Given the description of an element on the screen output the (x, y) to click on. 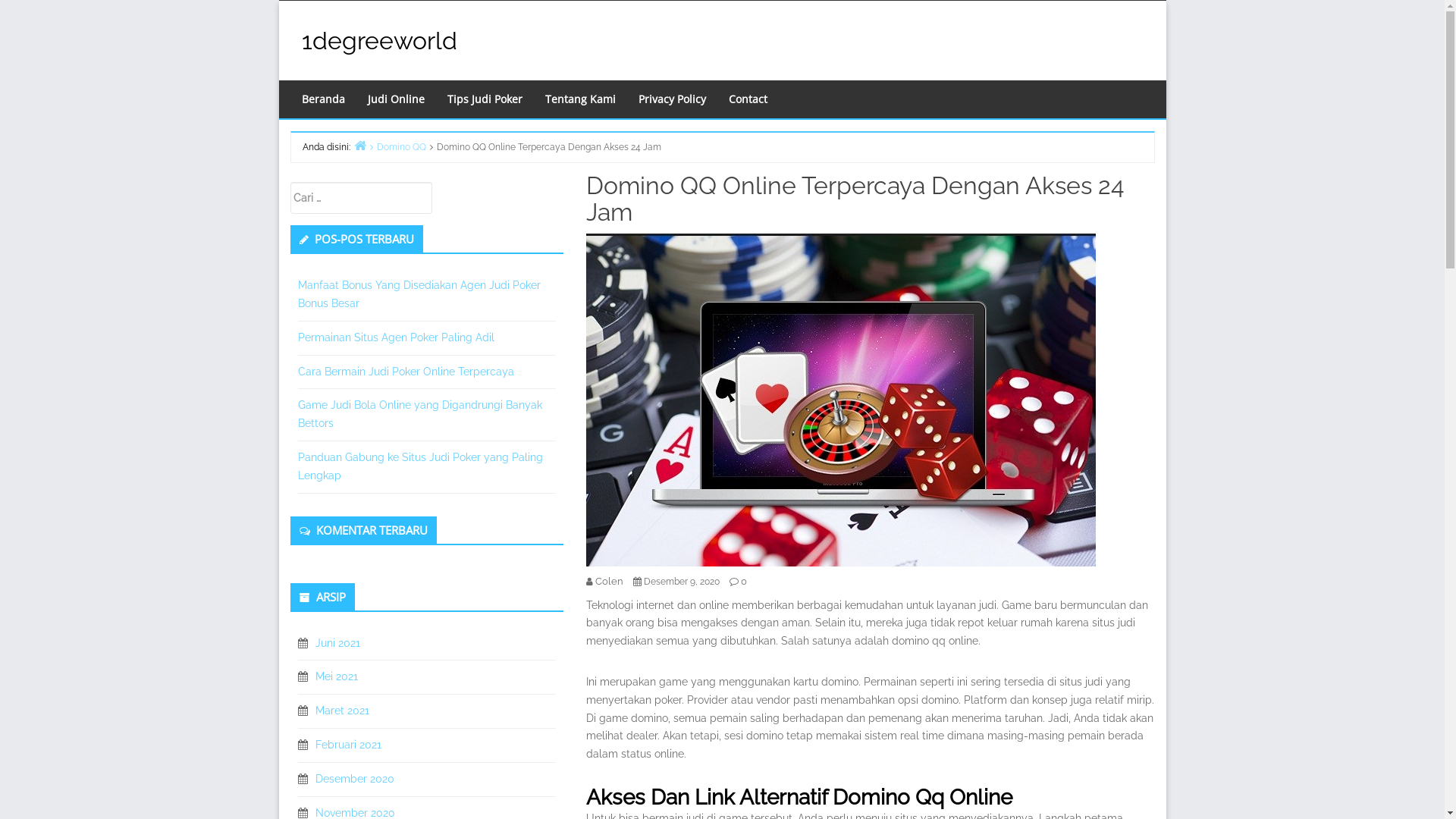
Juni 2021 Element type: text (337, 643)
Contact Element type: text (747, 99)
0 Element type: text (743, 580)
Panduan Gabung ke Situs Judi Poker yang Paling Lengkap Element type: text (419, 466)
1degreeworld Element type: text (379, 40)
Manfaat Bonus Yang Disediakan Agen Judi Poker Bonus Besar Element type: text (418, 294)
Colen Element type: text (608, 580)
Beranda Element type: text (322, 99)
Game Judi Bola Online yang Digandrungi Banyak Bettors Element type: text (419, 413)
Judi Online Element type: text (396, 99)
Desember 2020 Element type: text (354, 778)
Permainan Situs Agen Poker Paling Adil Element type: text (395, 337)
Mei 2021 Element type: text (336, 676)
Tips Judi Poker Element type: text (484, 99)
Tentang Kami Element type: text (580, 99)
Domino QQ Element type: text (395, 146)
Privacy Policy Element type: text (671, 99)
Cara Bermain Judi Poker Online Terpercaya Element type: text (405, 371)
Cari Element type: text (147, 12)
Maret 2021 Element type: text (342, 710)
Februari 2021 Element type: text (348, 744)
